Given the description of an element on the screen output the (x, y) to click on. 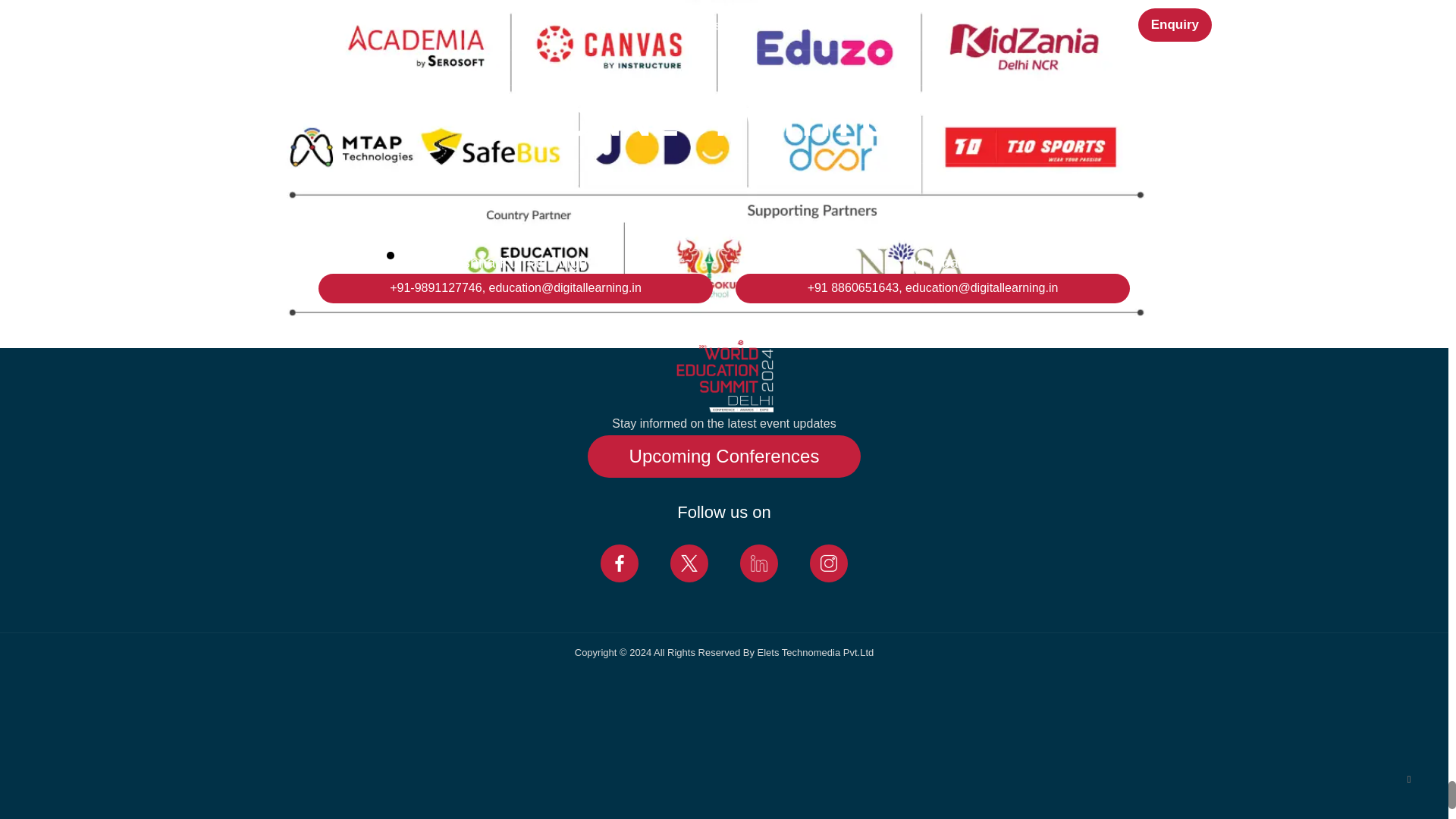
CONNECT WITH US (724, 120)
Upcoming Conferences (724, 455)
